Given the description of an element on the screen output the (x, y) to click on. 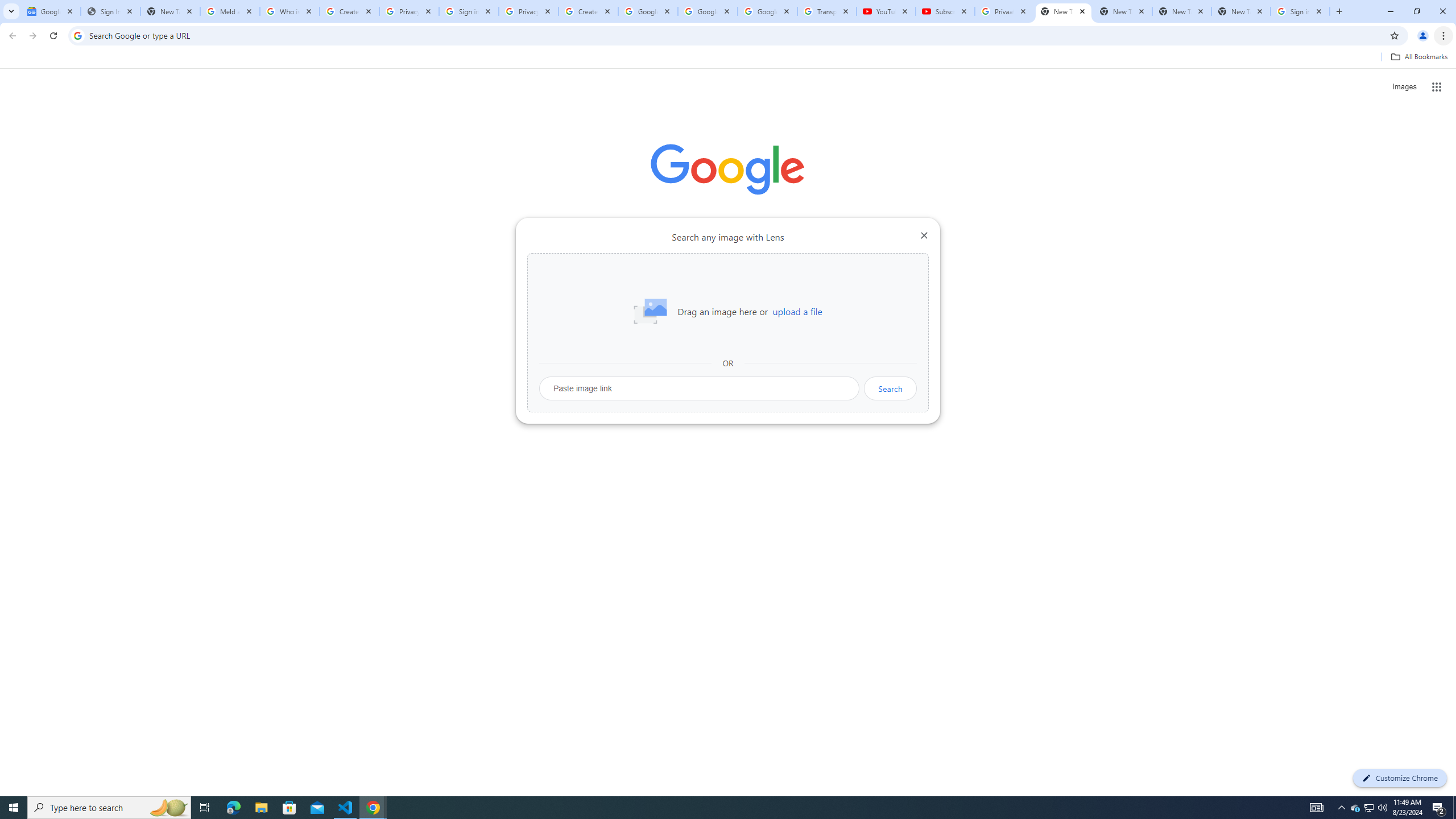
YouTube (885, 11)
New Tab (1241, 11)
Create your Google Account (588, 11)
Google News (50, 11)
